Given the description of an element on the screen output the (x, y) to click on. 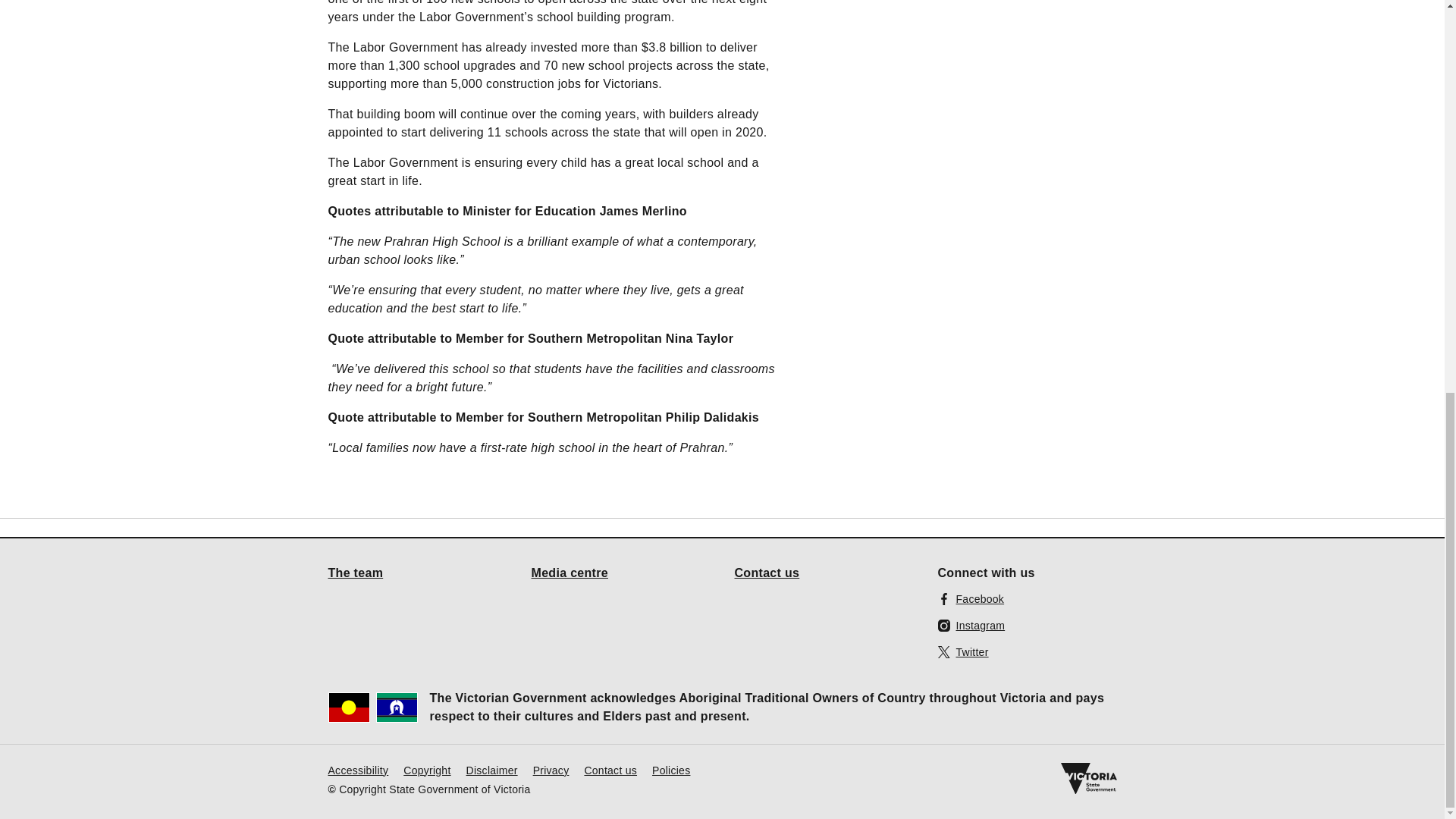
Privacy (550, 769)
Media centre (569, 572)
The team (354, 572)
Victoria government home (1087, 778)
Contact us (610, 769)
Accessibility (357, 769)
Policies (671, 769)
Facebook (970, 598)
Contact us (766, 572)
Instagram (970, 625)
